Given the description of an element on the screen output the (x, y) to click on. 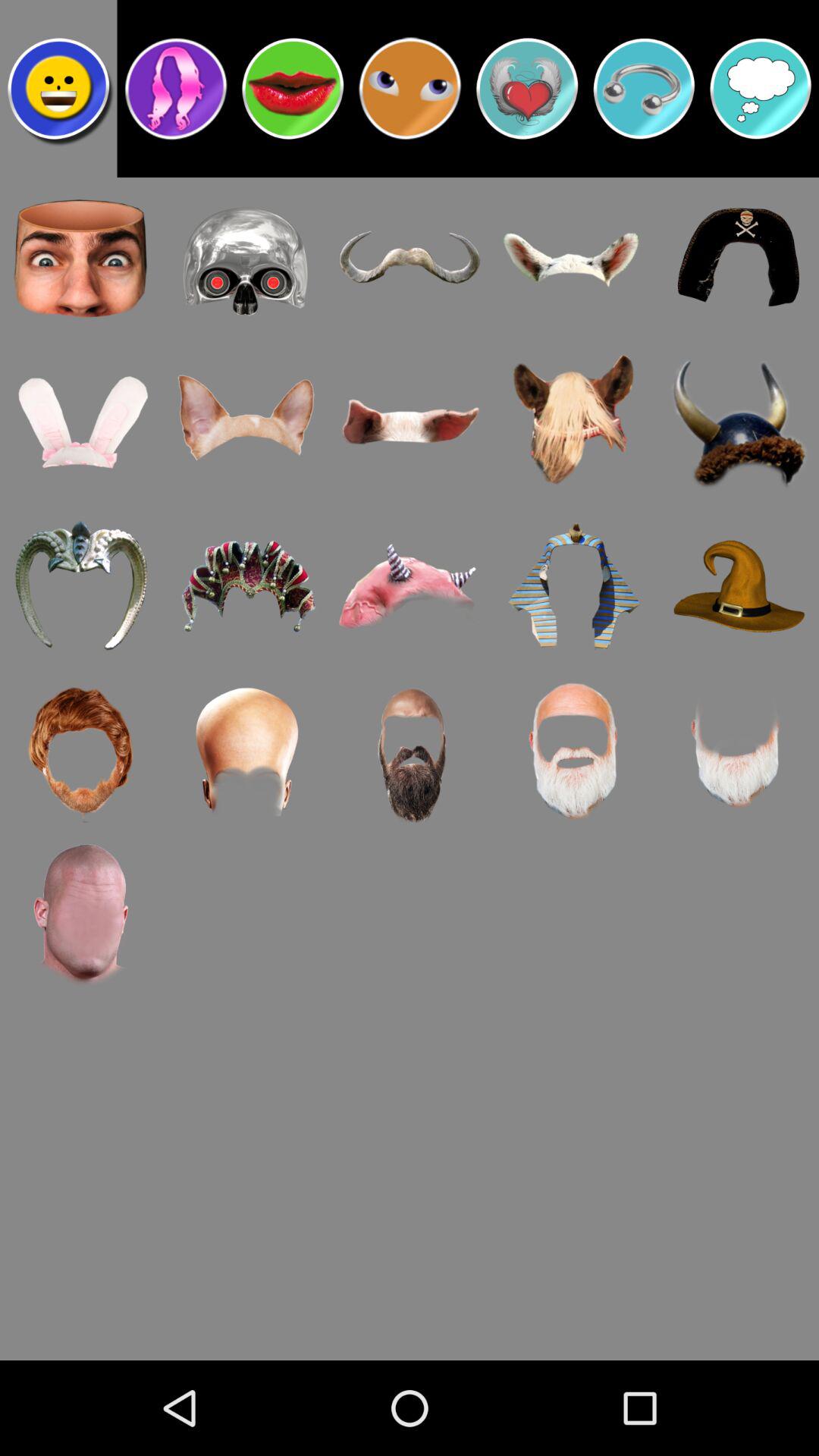
shirt choice (526, 88)
